Given the description of an element on the screen output the (x, y) to click on. 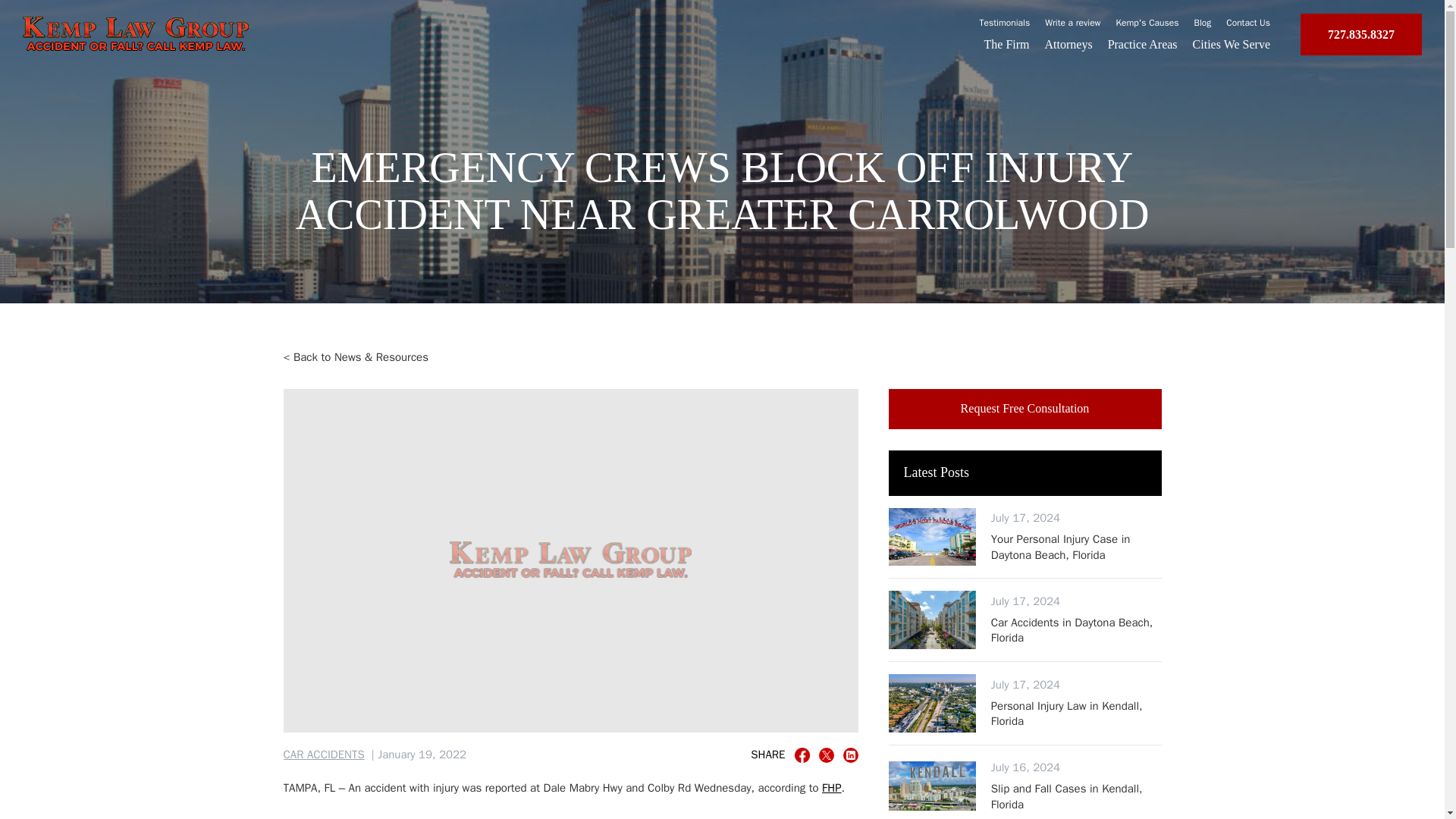
Your Personal Injury Case in Daytona Beach, Florida (1076, 546)
Personal Injury Law in Kendall, Florida (1076, 713)
Car Accidents in Daytona Beach, Florida (1024, 408)
Testimonials (1076, 630)
Share in Facebook (1004, 22)
Kemp's Causes (801, 754)
Cities We Serve (1147, 22)
CAR ACCIDENTS (1230, 43)
727.835.8327 (324, 754)
Blog (1361, 34)
Write a review (1202, 22)
Contact Us (1072, 22)
Practice Areas (1247, 22)
FHP (1142, 43)
